Given the description of an element on the screen output the (x, y) to click on. 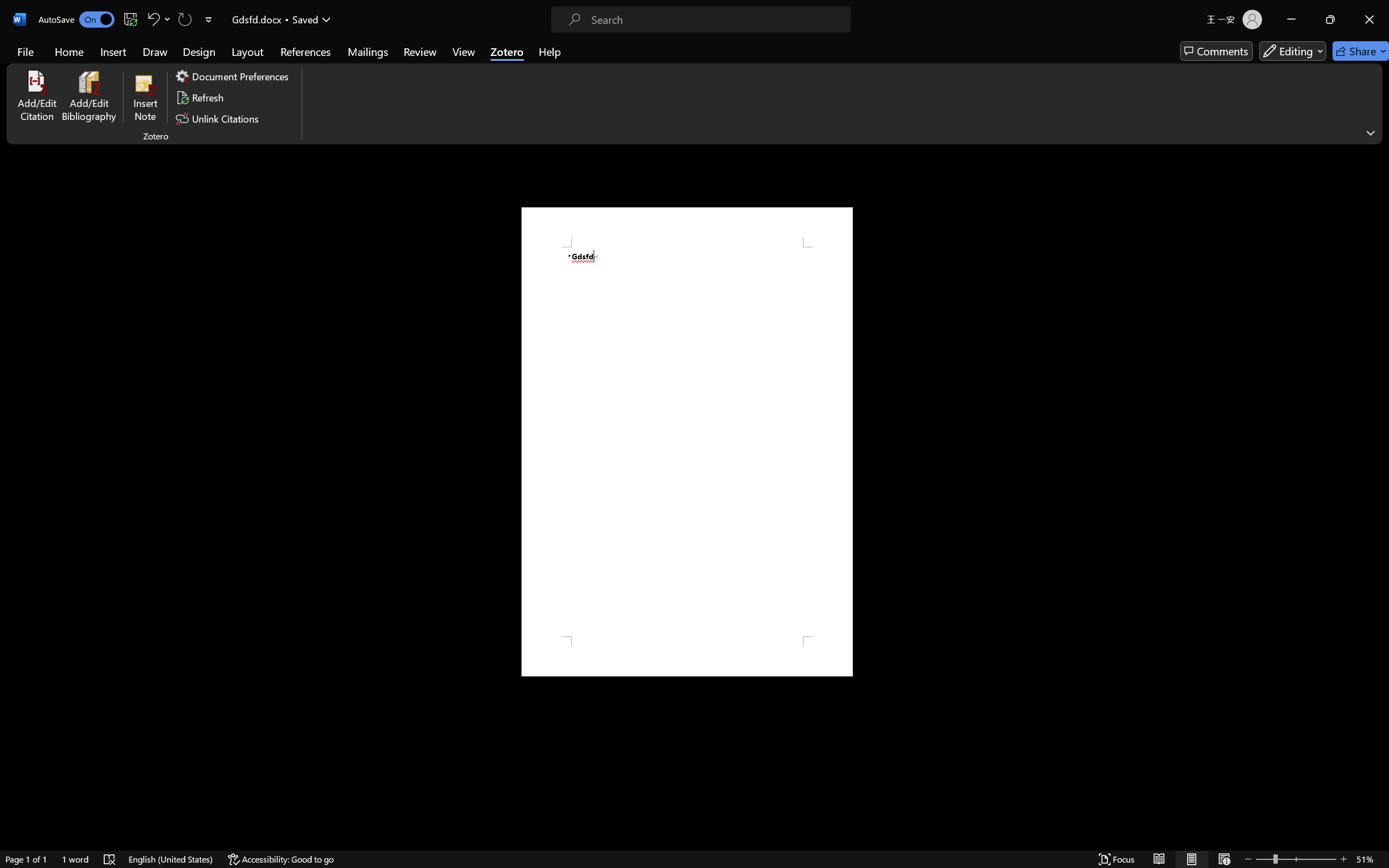
Page 1 content (686, 441)
